Given the description of an element on the screen output the (x, y) to click on. 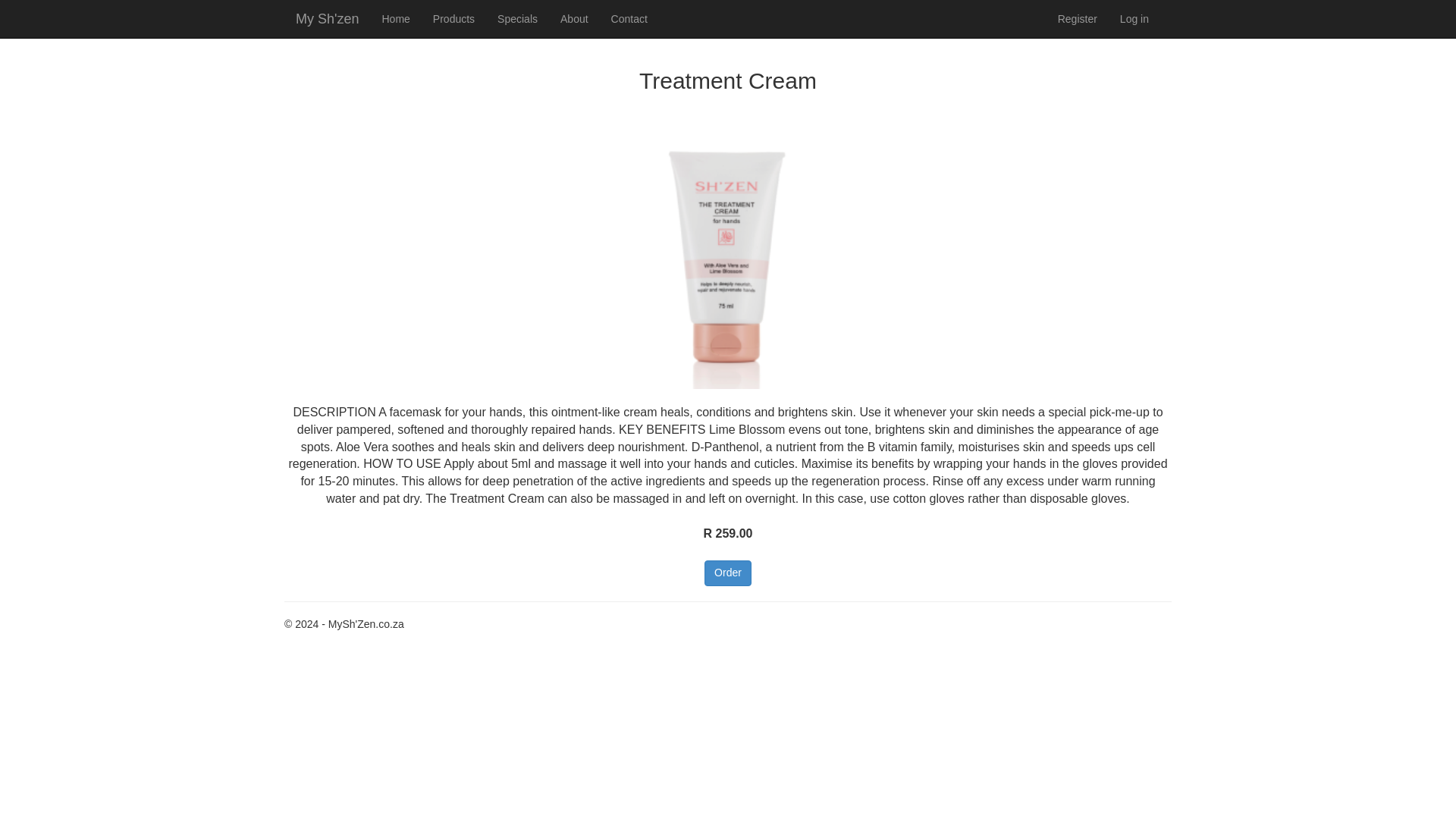
My Sh'zen (326, 18)
Home (394, 18)
Products (454, 18)
About (573, 18)
Order (727, 573)
Specials (517, 18)
Register (1077, 18)
Contact (629, 18)
Log in (1134, 18)
